Given the description of an element on the screen output the (x, y) to click on. 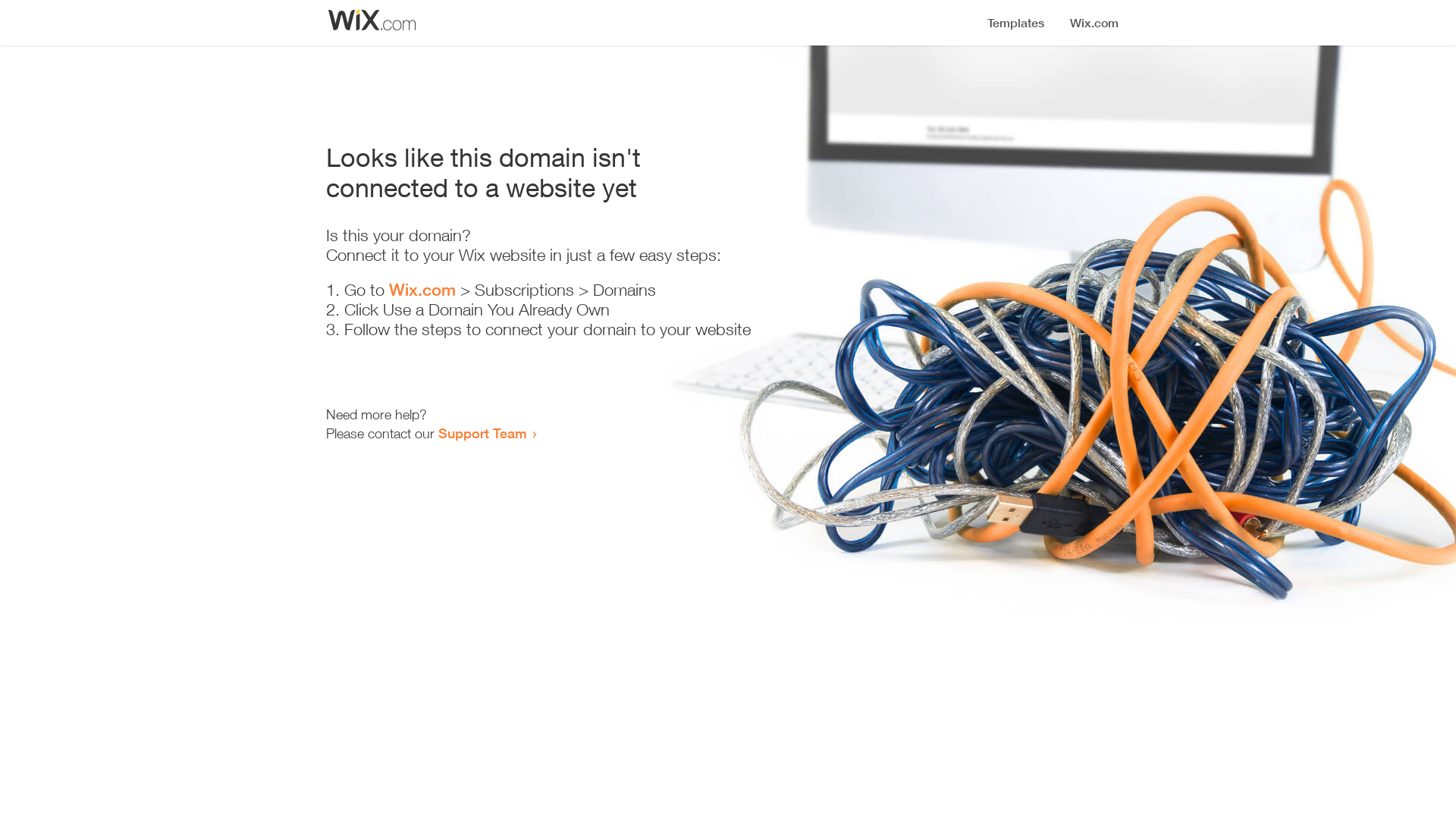
Wix.com Element type: text (422, 289)
Support Team Element type: text (482, 432)
